Given the description of an element on the screen output the (x, y) to click on. 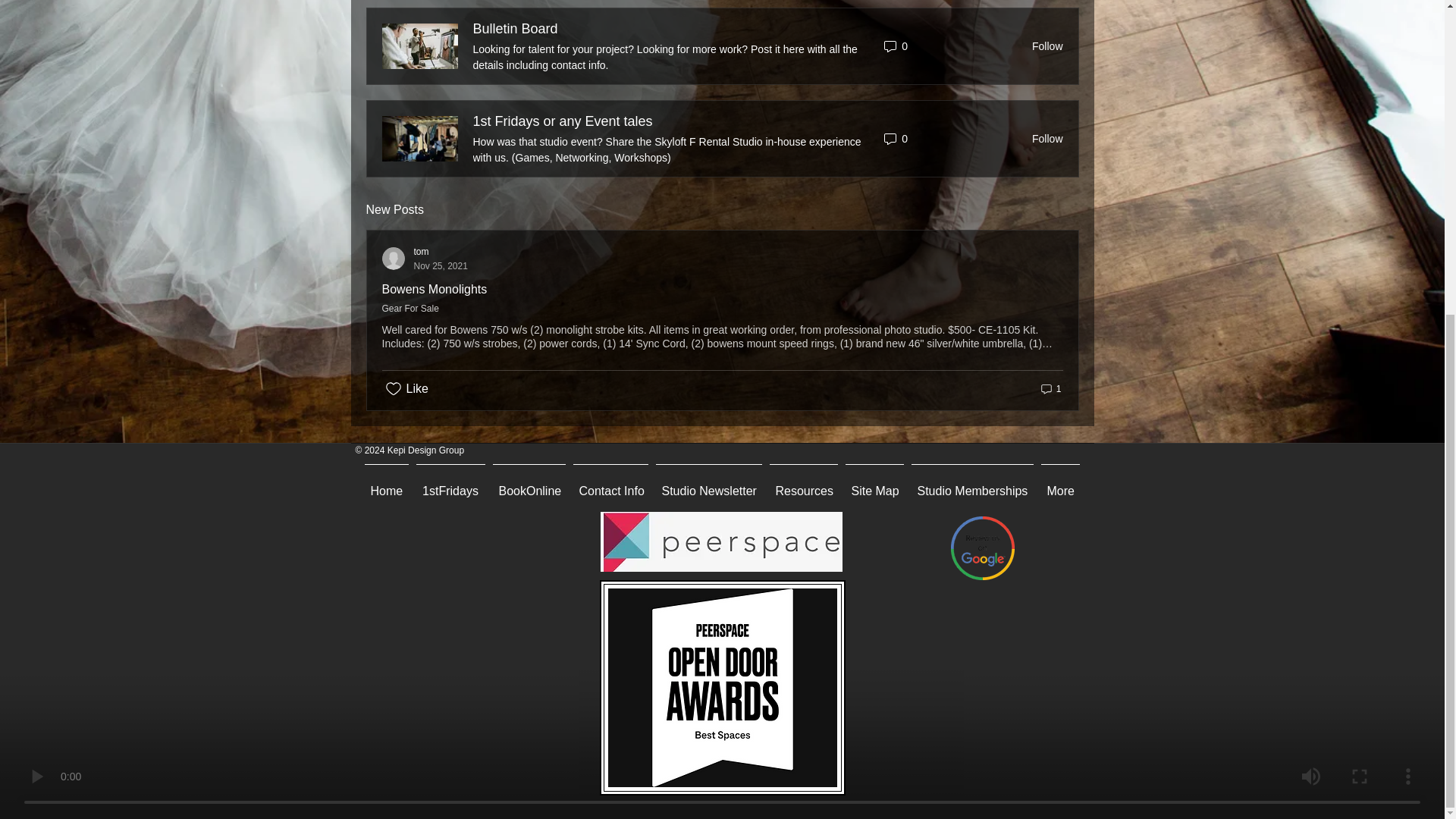
1 (424, 258)
Site Map (1050, 389)
Home (874, 484)
Follow (386, 484)
Bulletin Board (1042, 138)
1stFridays (515, 28)
1st Fridays or any Event tales (450, 484)
Studio Newsletter (562, 121)
Bowens Monolights (708, 484)
Follow (434, 288)
Resources (1042, 46)
BookOnline (803, 484)
Contact Info (528, 484)
Studio Memberships (609, 484)
